Given the description of an element on the screen output the (x, y) to click on. 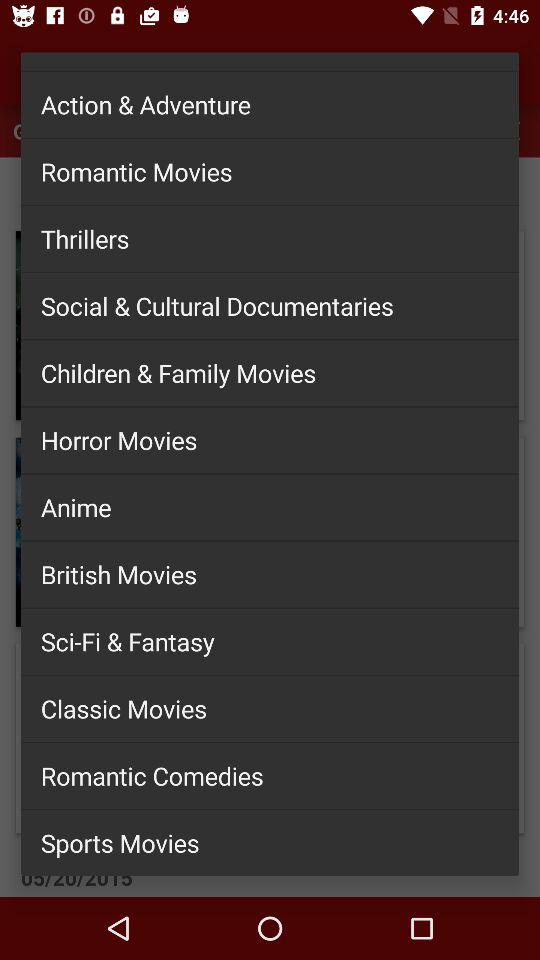
launch icon above    action & adventure icon (269, 53)
